Given the description of an element on the screen output the (x, y) to click on. 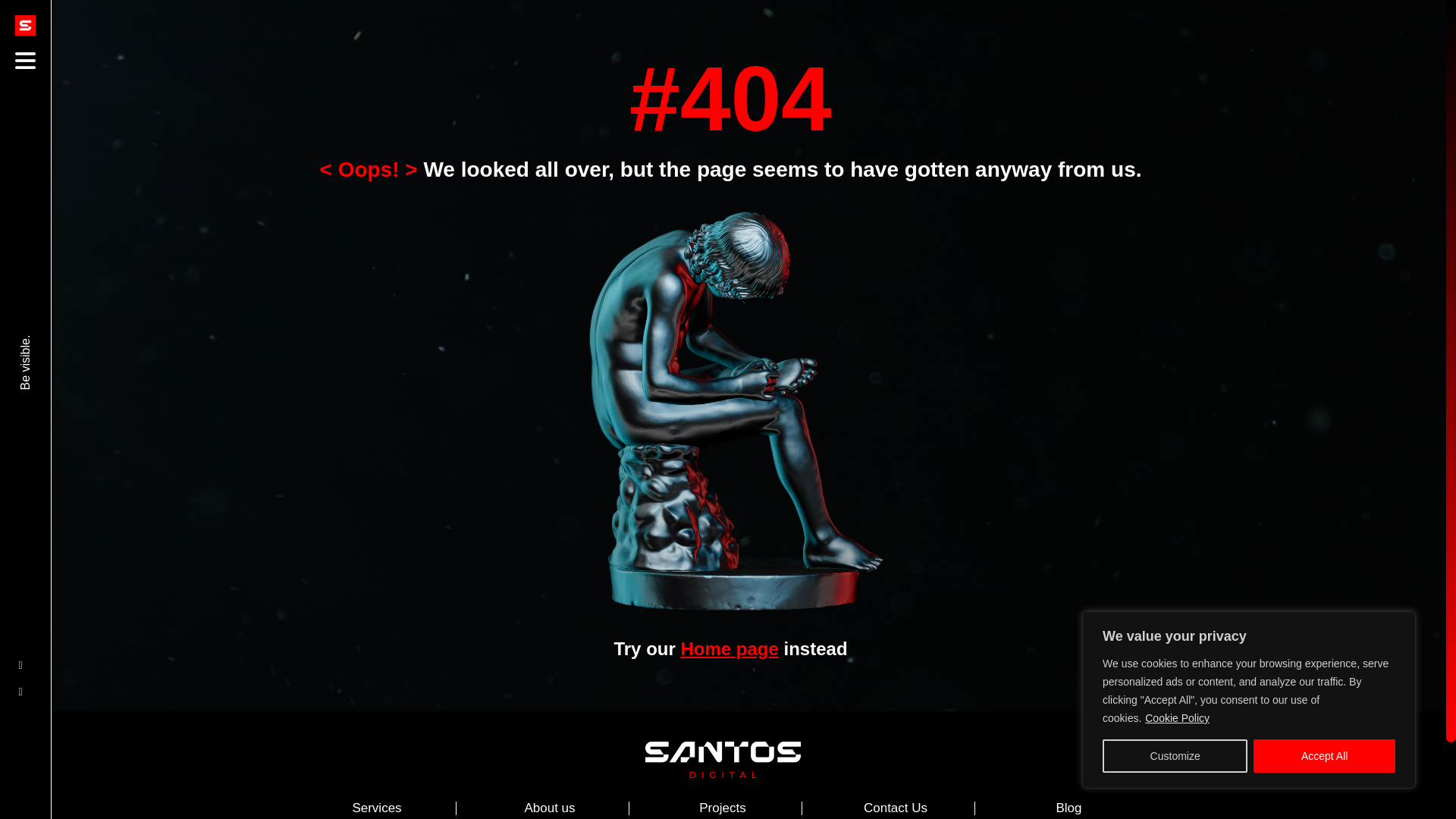
Accept All (1323, 756)
Home page (728, 648)
Services (376, 807)
About us (549, 807)
Projects (721, 807)
Contact Us (895, 807)
Cookie Policy (1176, 717)
Customize (1174, 756)
